Given the description of an element on the screen output the (x, y) to click on. 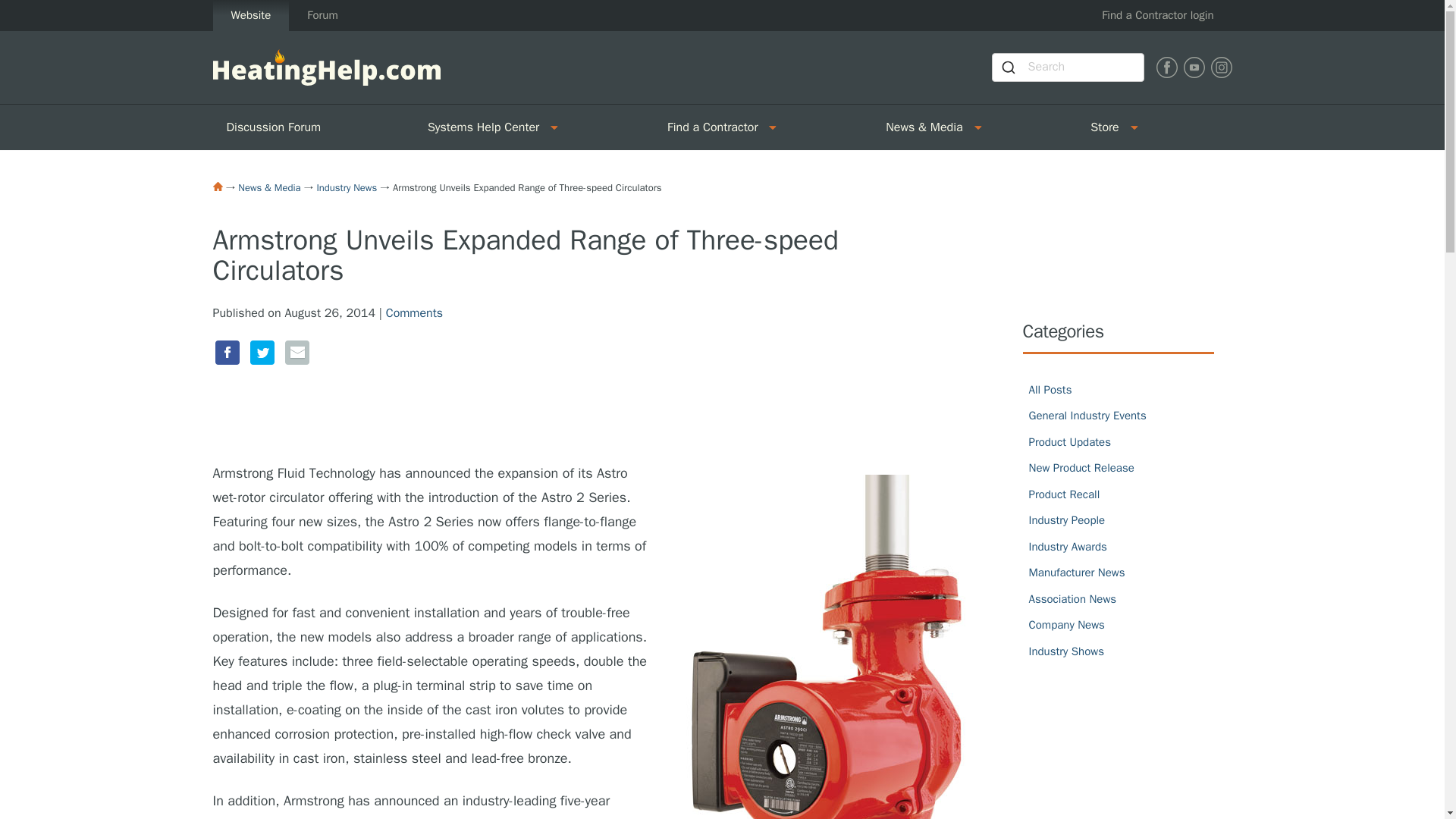
Submit (1009, 66)
Find a Contractor login (1157, 15)
Home (217, 185)
Website (250, 15)
Skip to Content (40, 9)
Forum (321, 15)
Find Heating Help on Instagram (1220, 66)
Systems Help Center (478, 126)
Find Heating Help on Facebook (1166, 66)
Find Heating Help on Youtube (1193, 66)
